Given the description of an element on the screen output the (x, y) to click on. 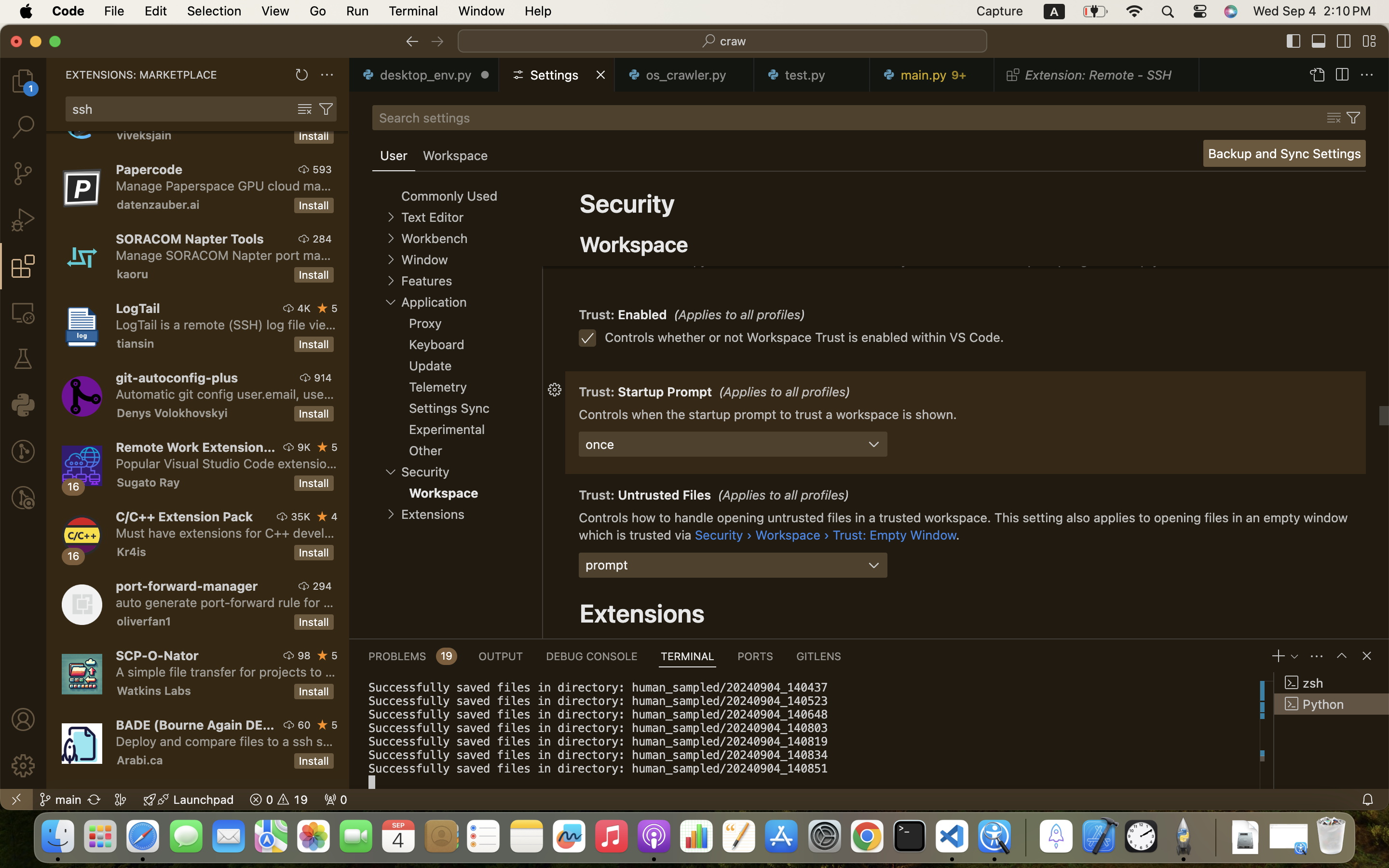
auto generate port-forward rule for your vscode ssh connection. Element type: AXStaticText (224, 602)
284 Element type: AXStaticText (321, 238)
Extensions Element type: AXStaticText (642, 612)
Startup Prompt Element type: AXStaticText (665, 391)
 Element type: AXButton (1316, 74)
